Given the description of an element on the screen output the (x, y) to click on. 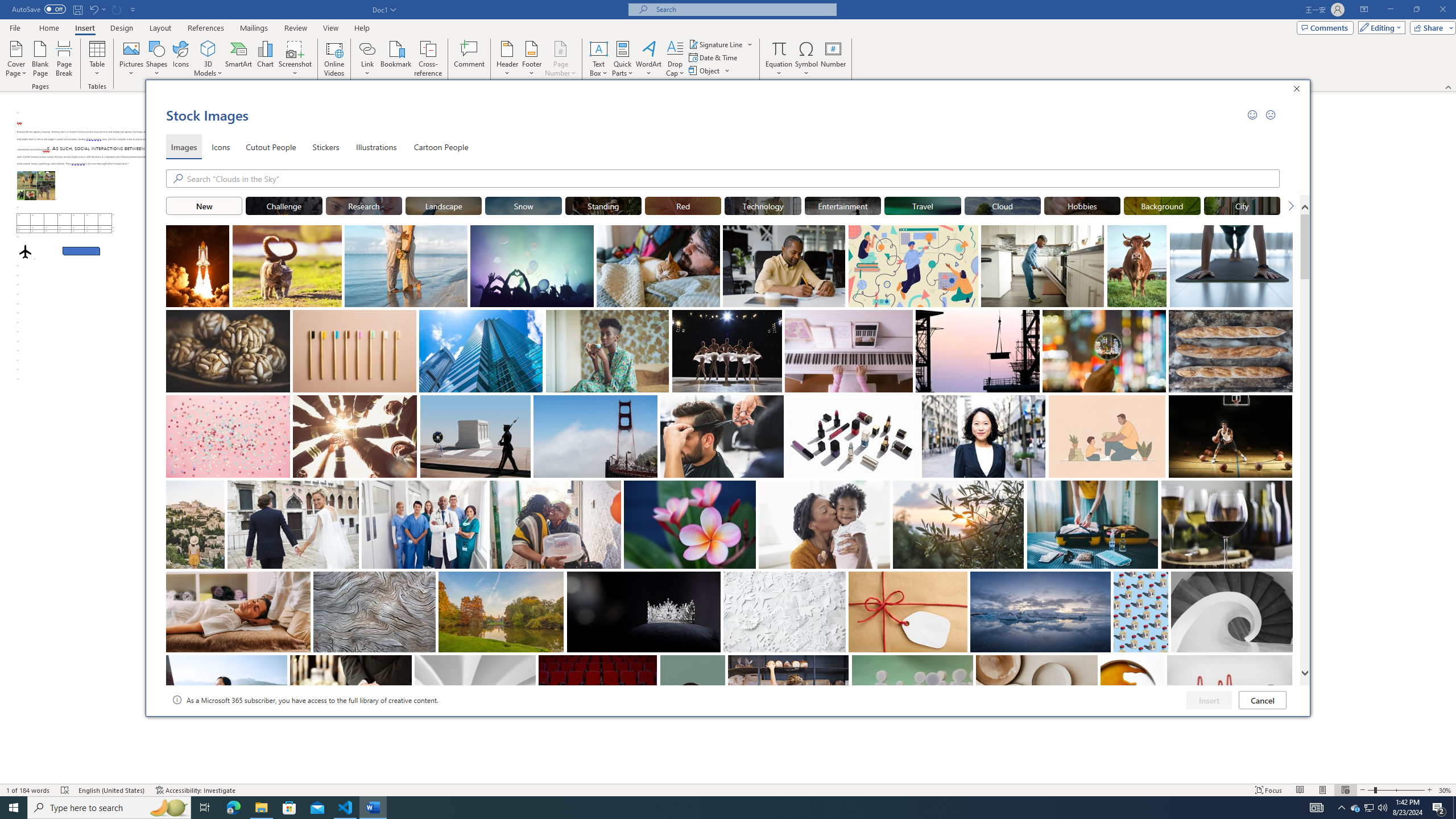
Cover Page (16, 58)
View (330, 28)
"Research" Stock Images. (363, 205)
Object... (709, 69)
Table (97, 58)
"Entertainment" Stock Images. (842, 205)
Word - 1 running window (373, 807)
Icons (220, 146)
Home (48, 28)
